Given the description of an element on the screen output the (x, y) to click on. 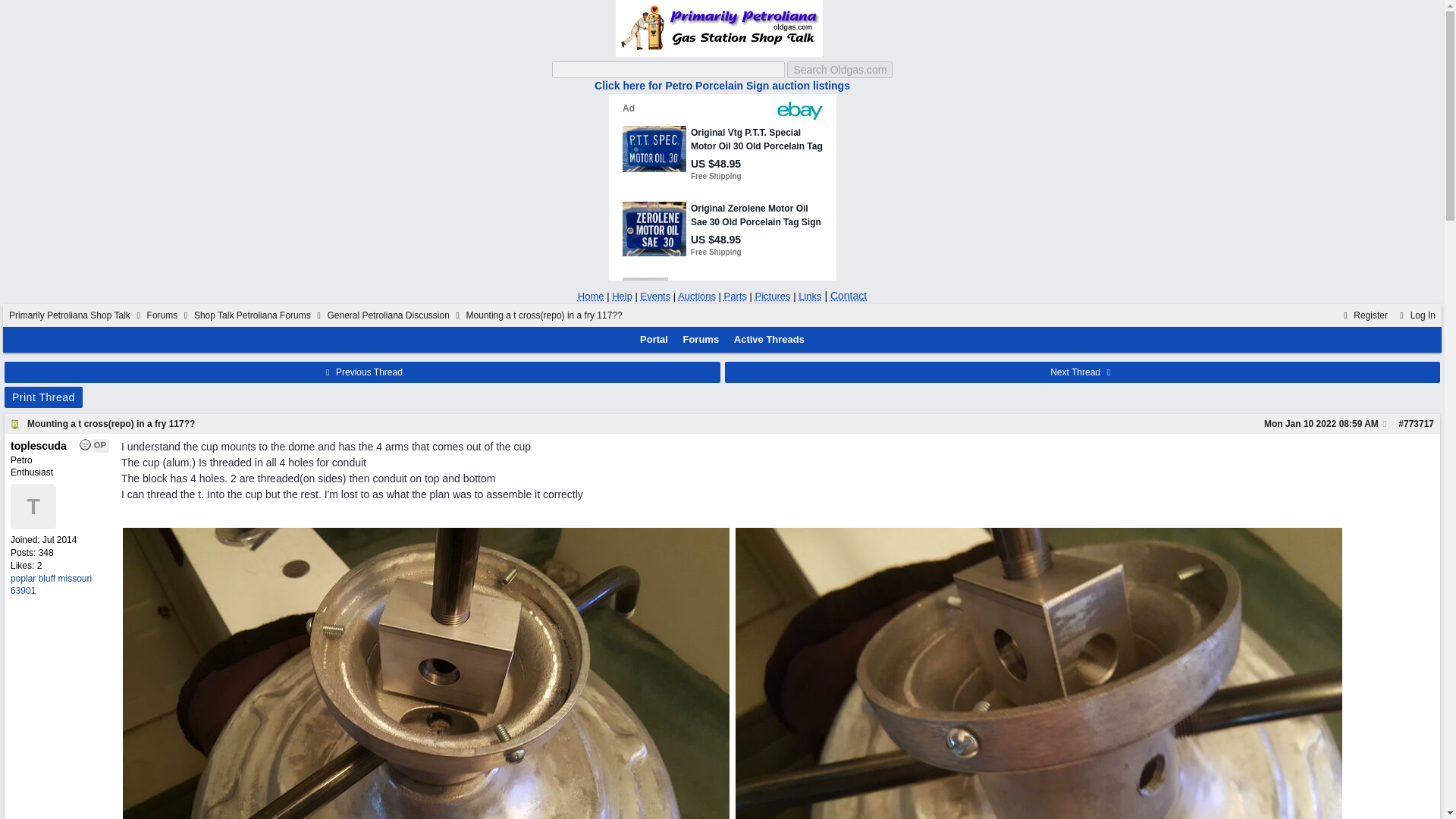
Home (591, 296)
General Petroliana Discussion (387, 315)
773717 (1418, 423)
poplar bluff missouri 63901 (50, 585)
Offline (85, 444)
Events (654, 296)
Primarily Petroliana Shop Talk (69, 315)
T (33, 506)
Forums (162, 315)
Log In (1415, 315)
Oldgas.com Main Menu (591, 296)
Parts (734, 296)
Help (621, 296)
Click here for Petro Porcelain Sign auction listings (722, 85)
Gas Pump Restoration Parts Vendors (734, 296)
